Given the description of an element on the screen output the (x, y) to click on. 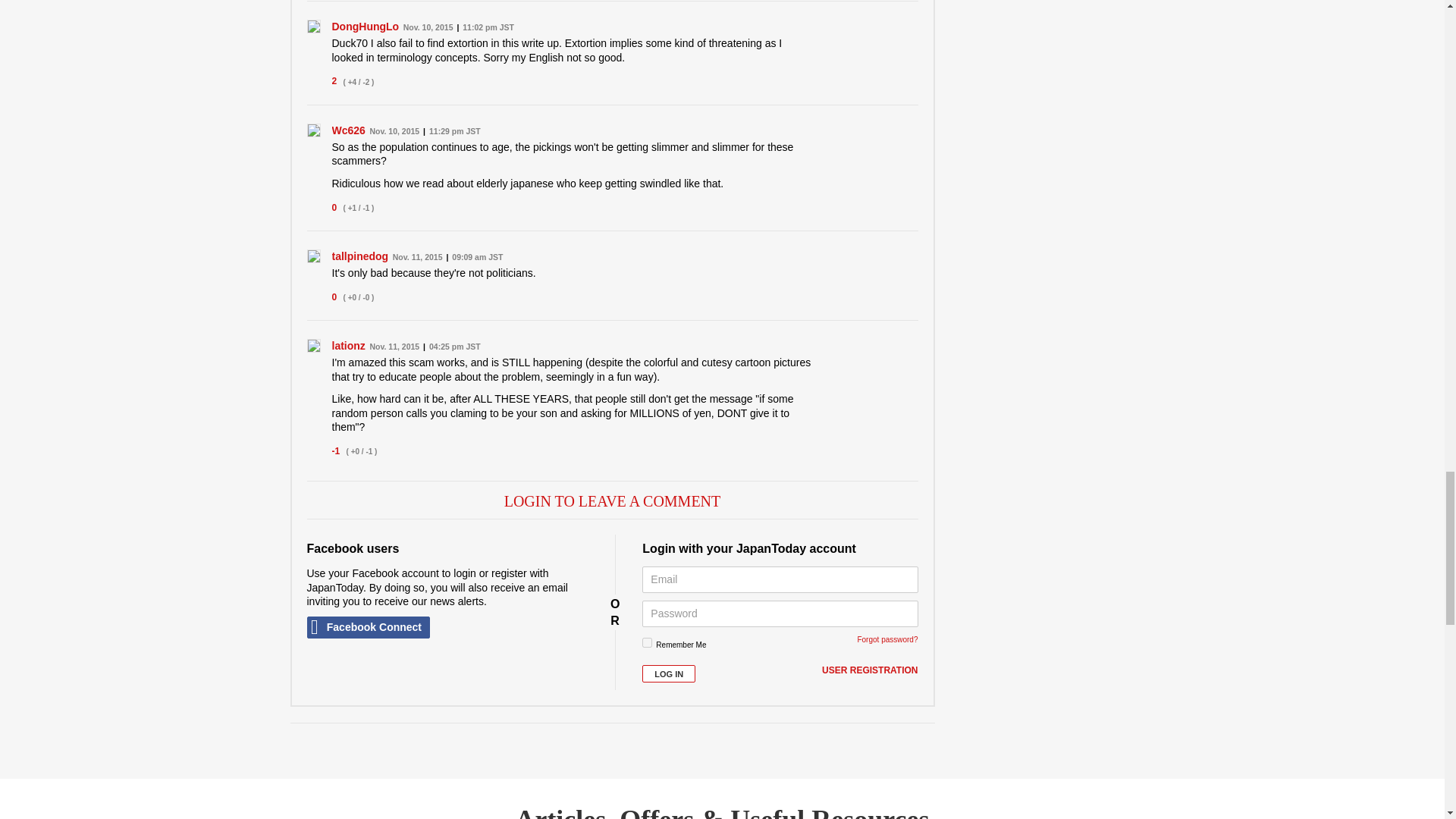
1 (647, 642)
Connect with Facebook (367, 627)
Forgot password? (887, 639)
User registration (869, 671)
Log In (668, 673)
